Given the description of an element on the screen output the (x, y) to click on. 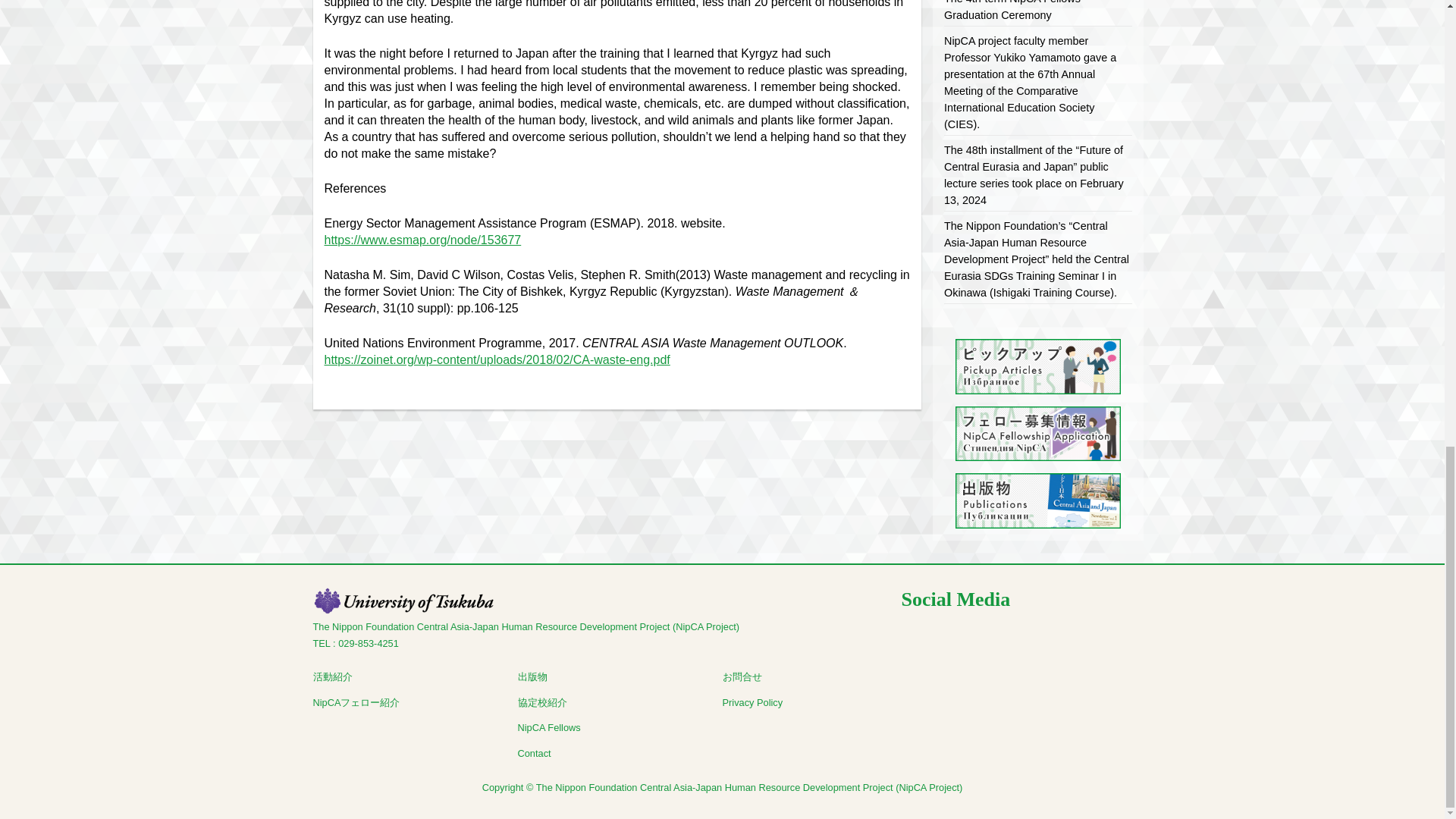
The 4th-term NipCA Fellows Graduation Ceremony (1011, 10)
